Given the description of an element on the screen output the (x, y) to click on. 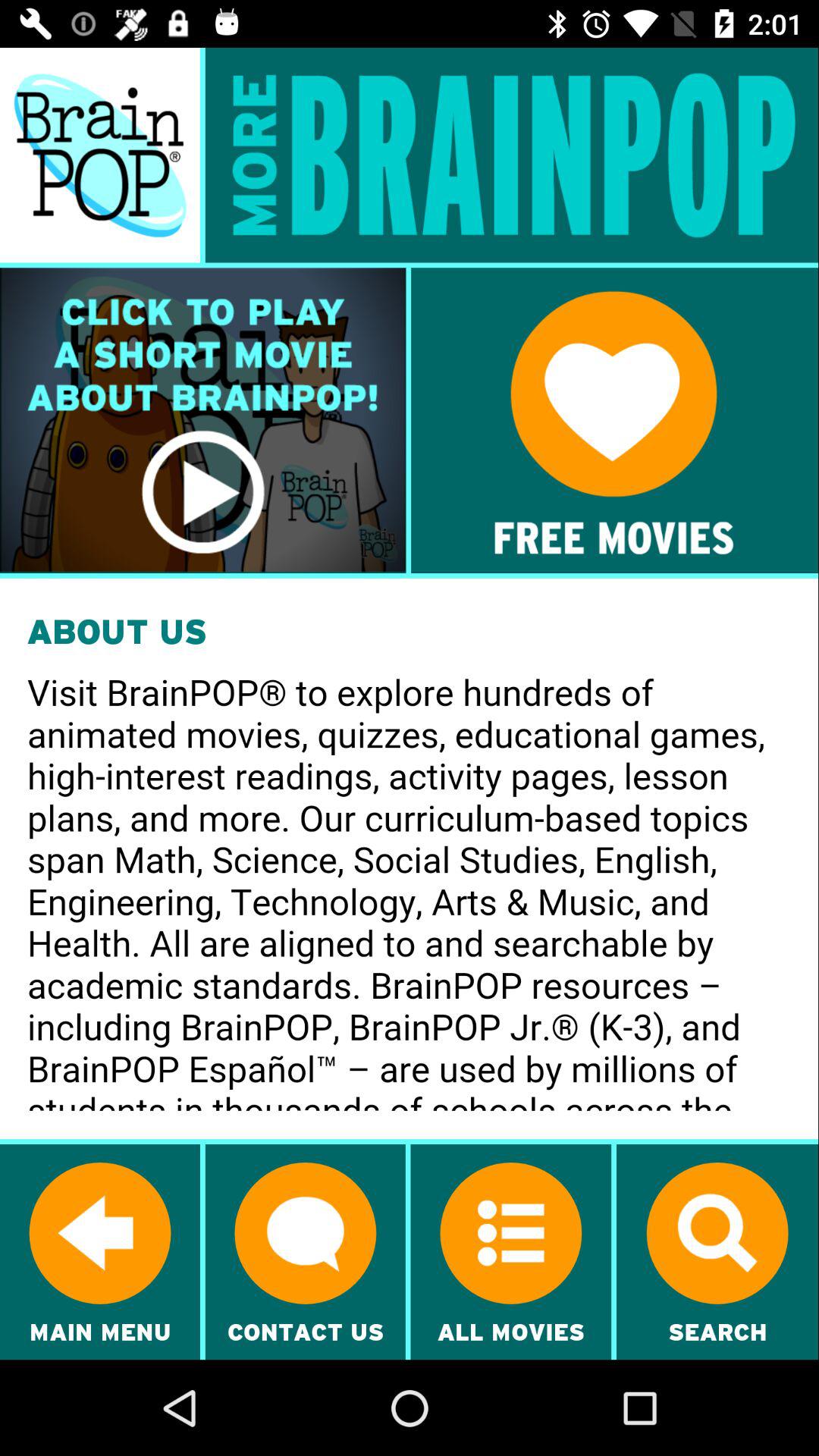
go to site (614, 420)
